Given the description of an element on the screen output the (x, y) to click on. 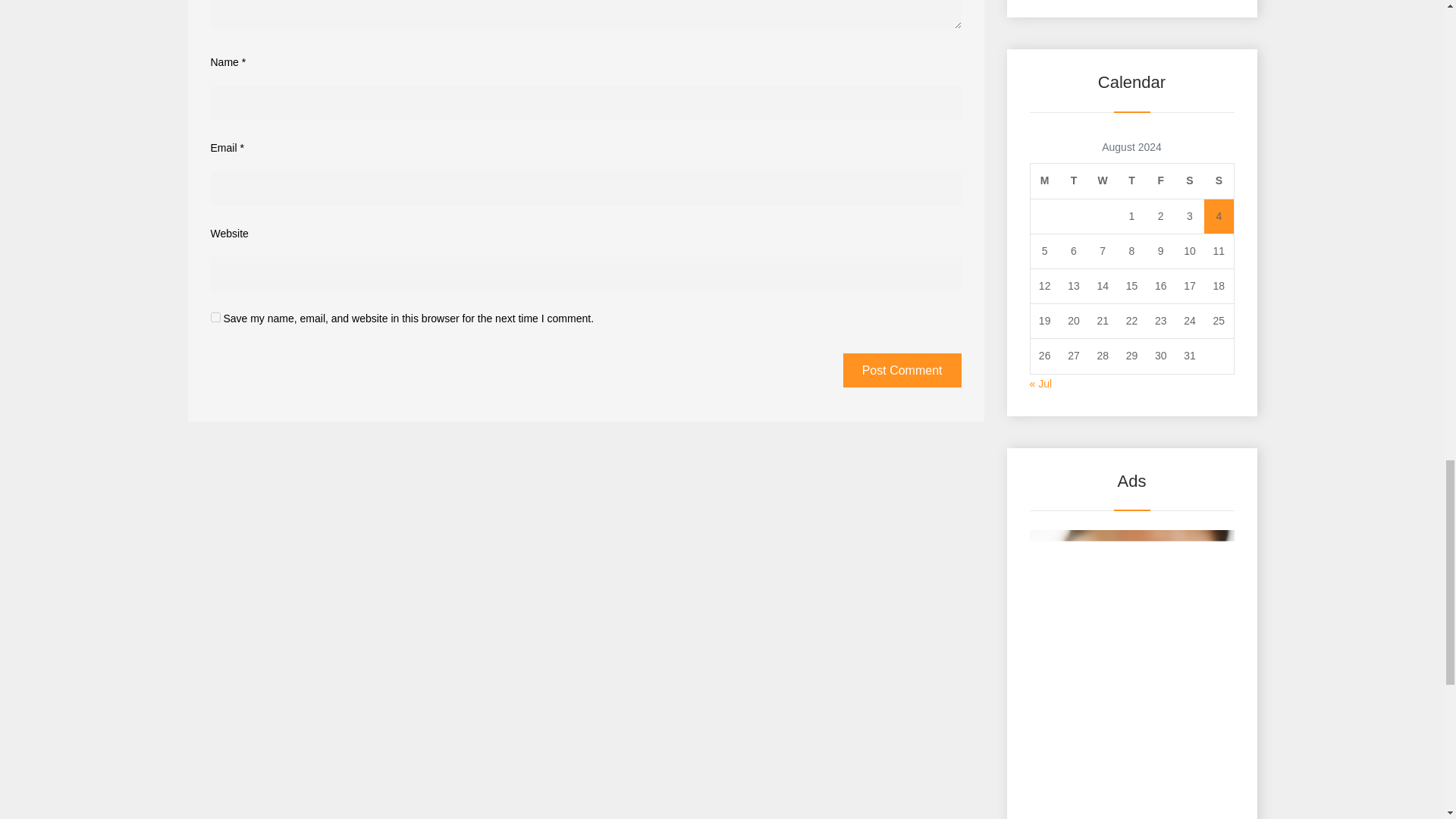
yes (216, 317)
Post Comment (901, 369)
Post Comment (901, 369)
